Given the description of an element on the screen output the (x, y) to click on. 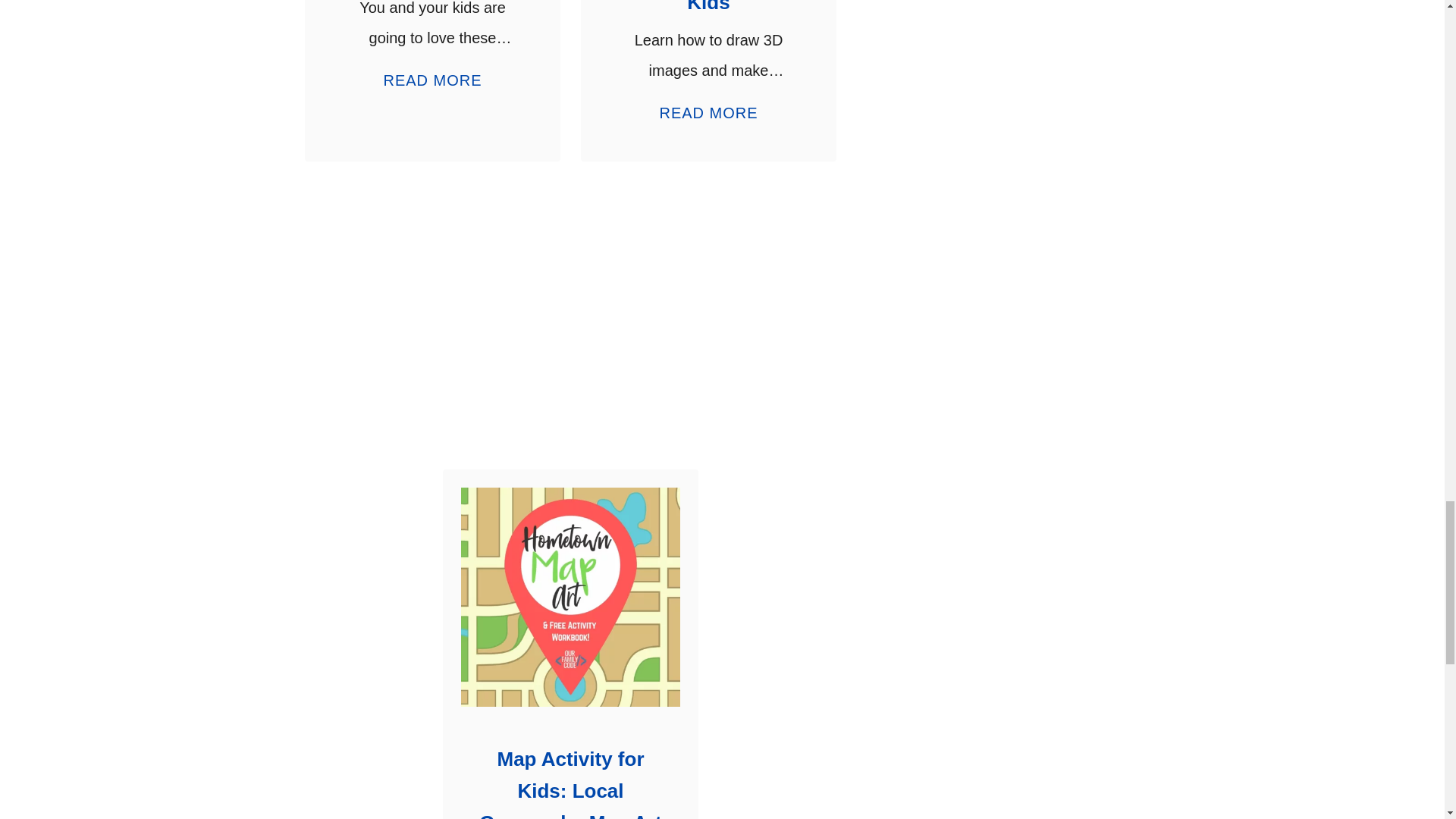
How to Draw 3D Art: Anaglyphs for Kids (708, 7)
Map Activity for Kids: Local Geography Map Art (570, 596)
Map Activity for Kids: Local Geography Map Art (708, 105)
